Given the description of an element on the screen output the (x, y) to click on. 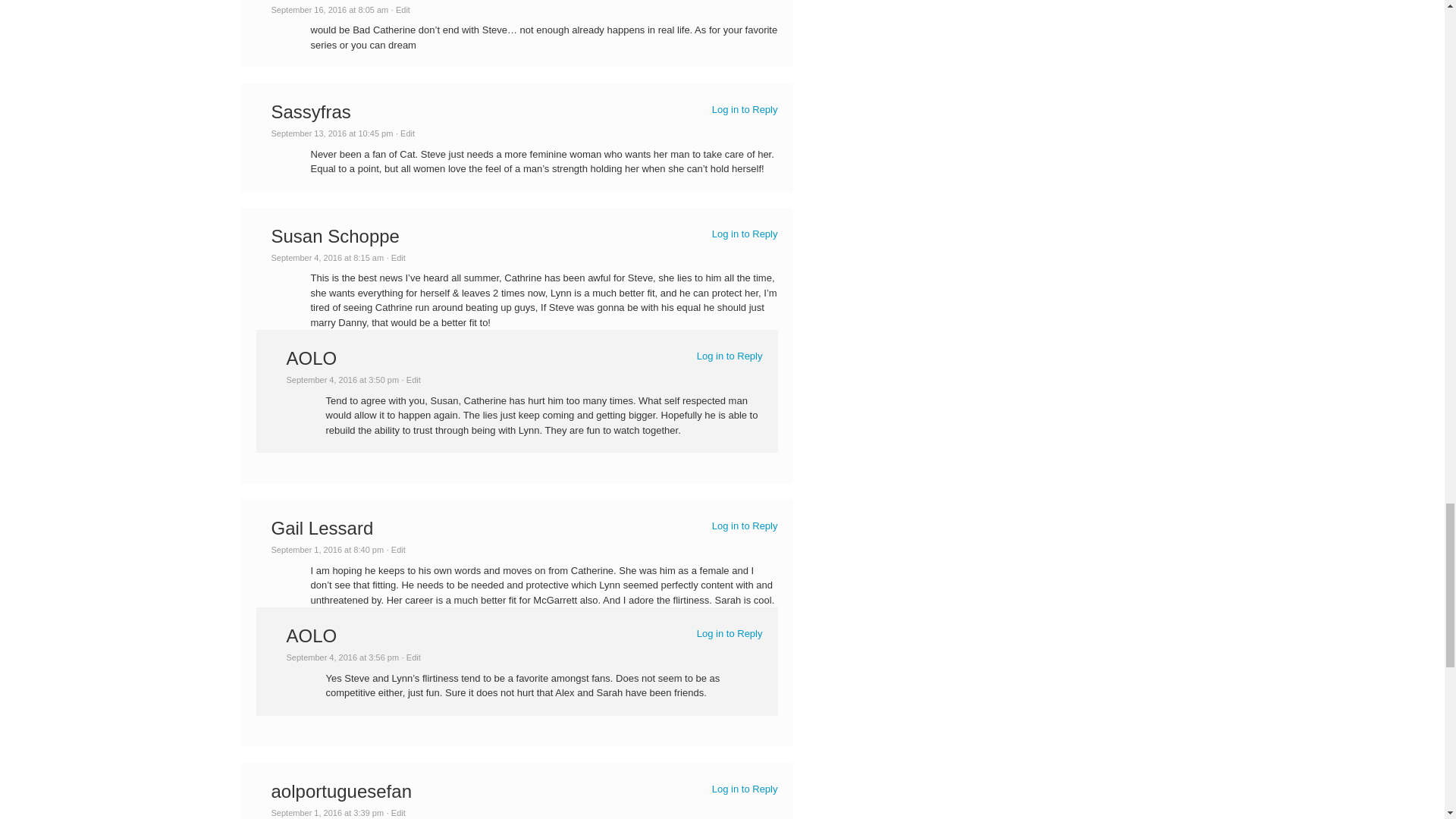
Edit Comment (396, 257)
Edit Comment (410, 379)
Edit Comment (405, 133)
Edit Comment (396, 549)
Edit Comment (400, 9)
Thursday, September 1, 2016, 8:40 pm (327, 549)
Sunday, September 4, 2016, 3:50 pm (342, 379)
Tuesday, September 13, 2016, 10:45 pm (331, 133)
Sunday, September 4, 2016, 8:15 am (327, 257)
Friday, September 16, 2016, 8:05 am (329, 9)
